Given the description of an element on the screen output the (x, y) to click on. 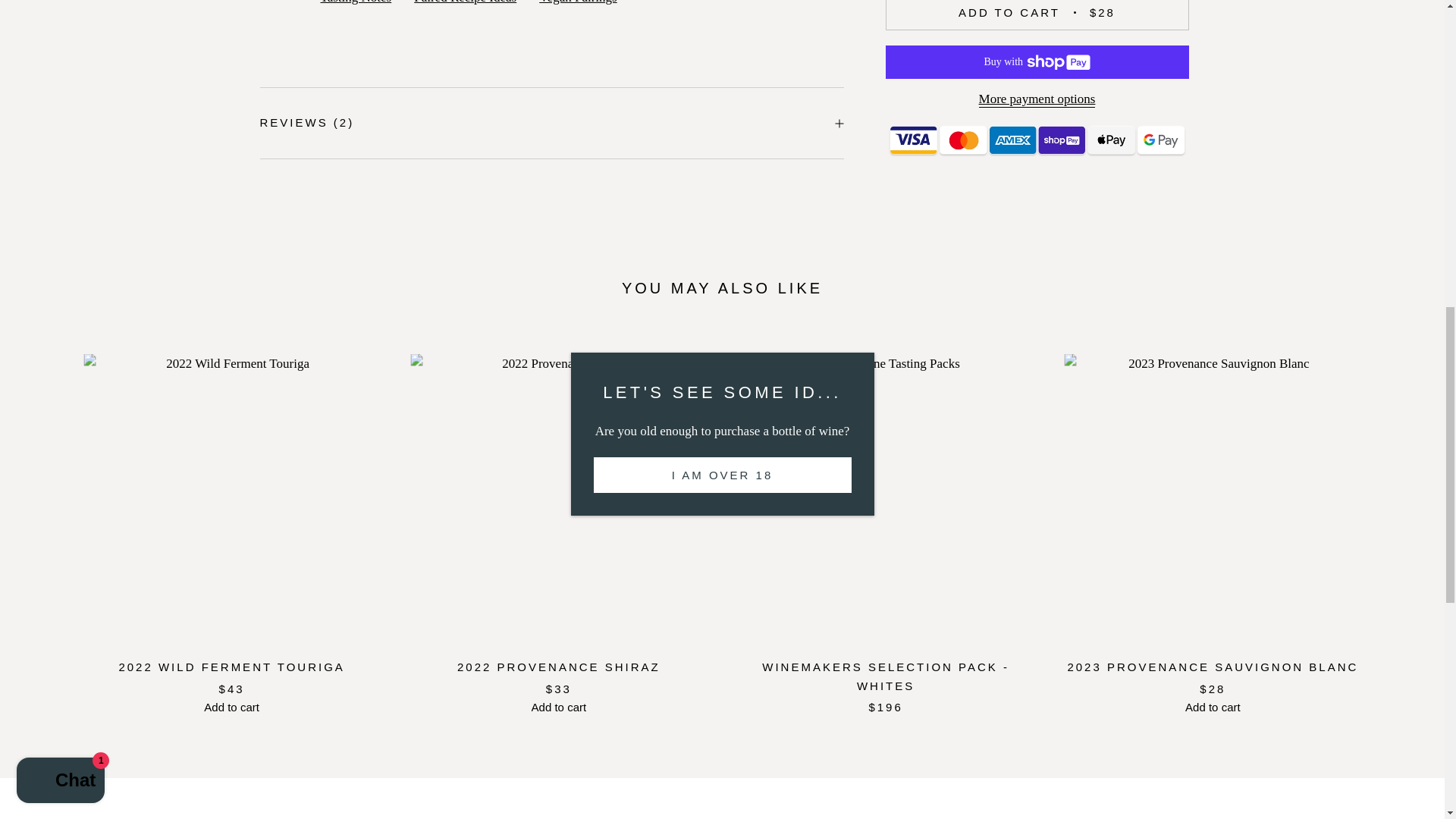
Add to cart (1212, 707)
Add to cart (558, 707)
Add to cart (231, 707)
